Given the description of an element on the screen output the (x, y) to click on. 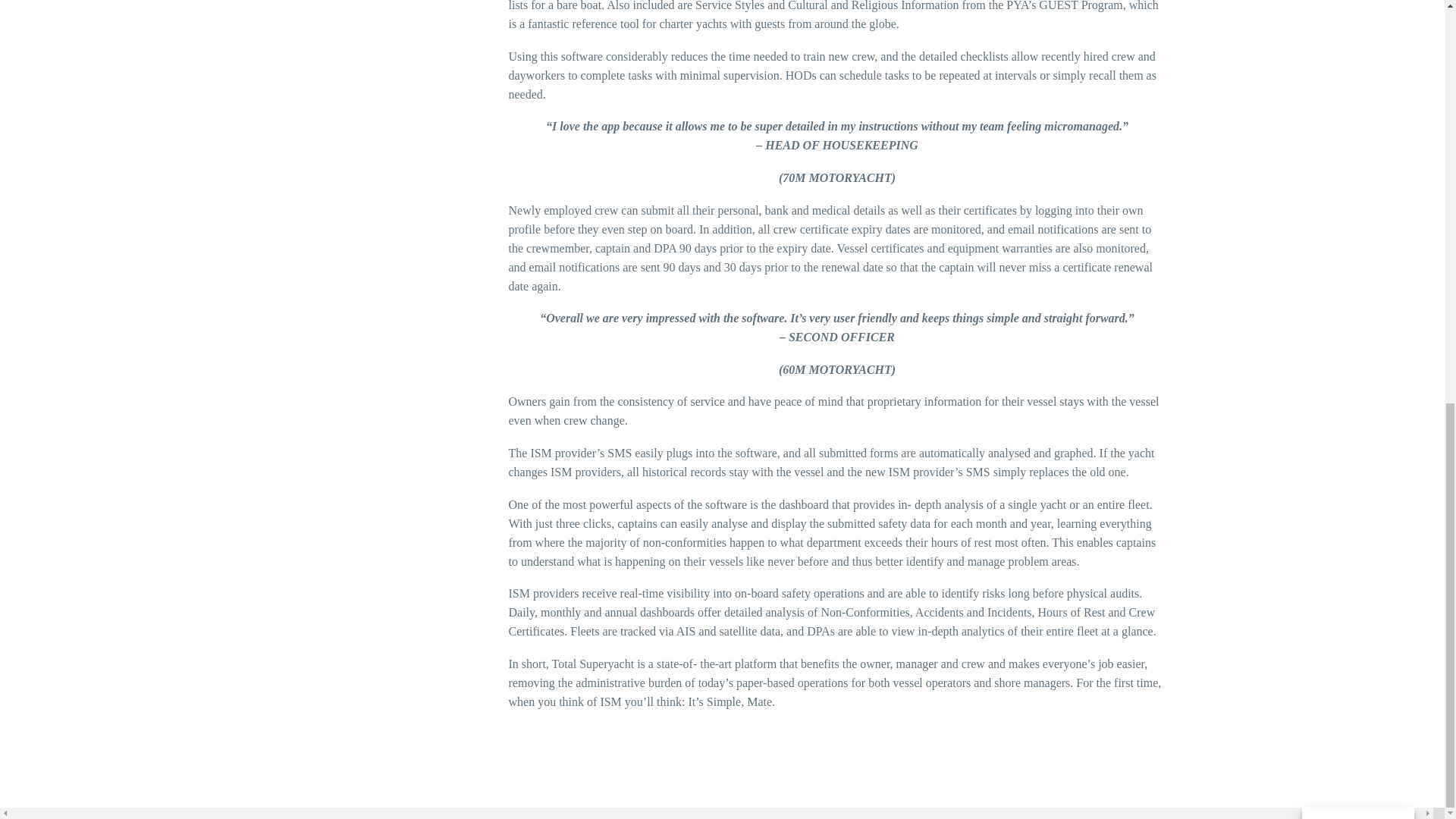
Page 1 (837, 52)
Page 1 (837, 152)
Page 1 (837, 368)
